Given the description of an element on the screen output the (x, y) to click on. 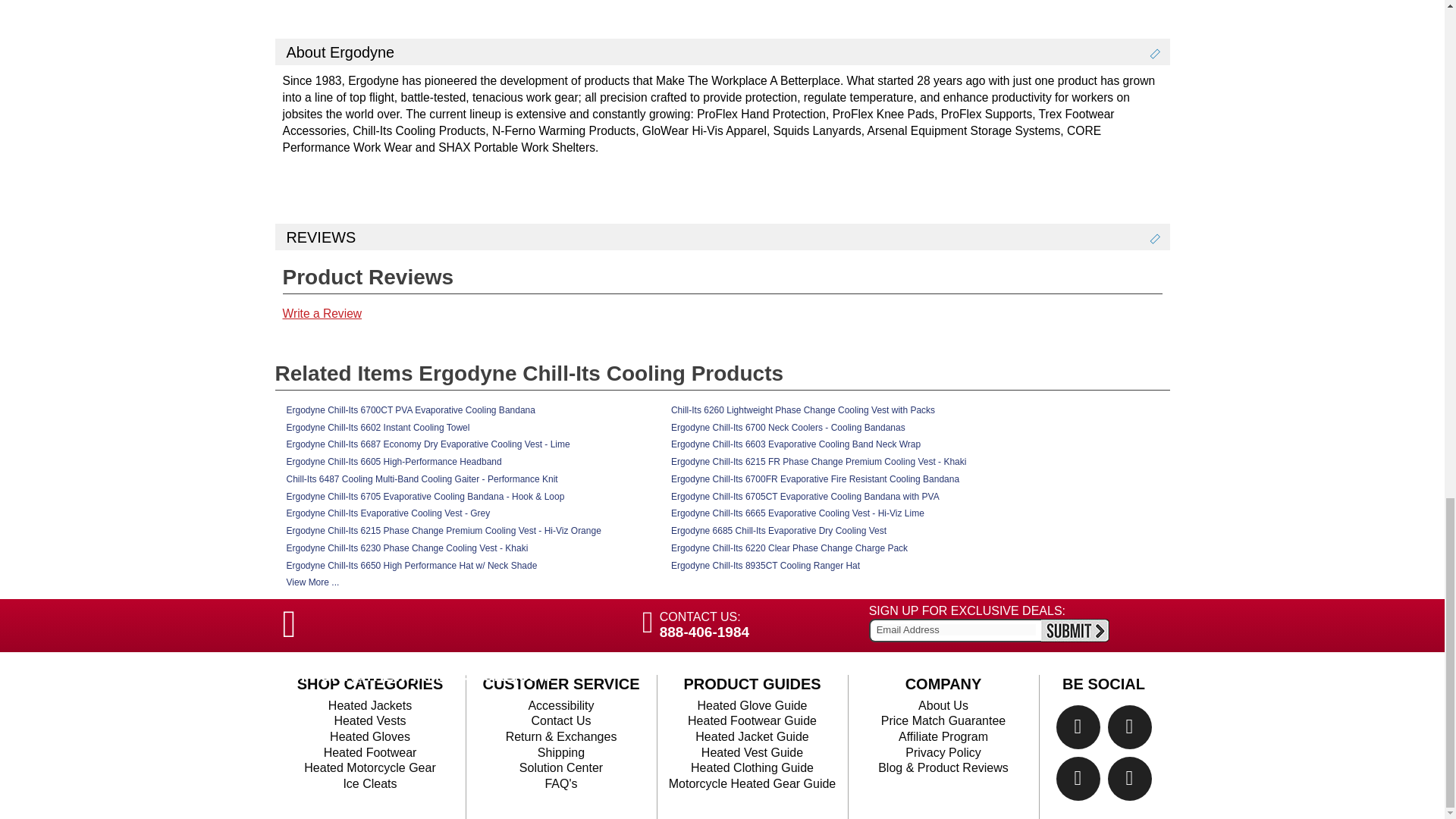
Email Address (955, 629)
Go (1075, 630)
Submit (1075, 630)
